Given the description of an element on the screen output the (x, y) to click on. 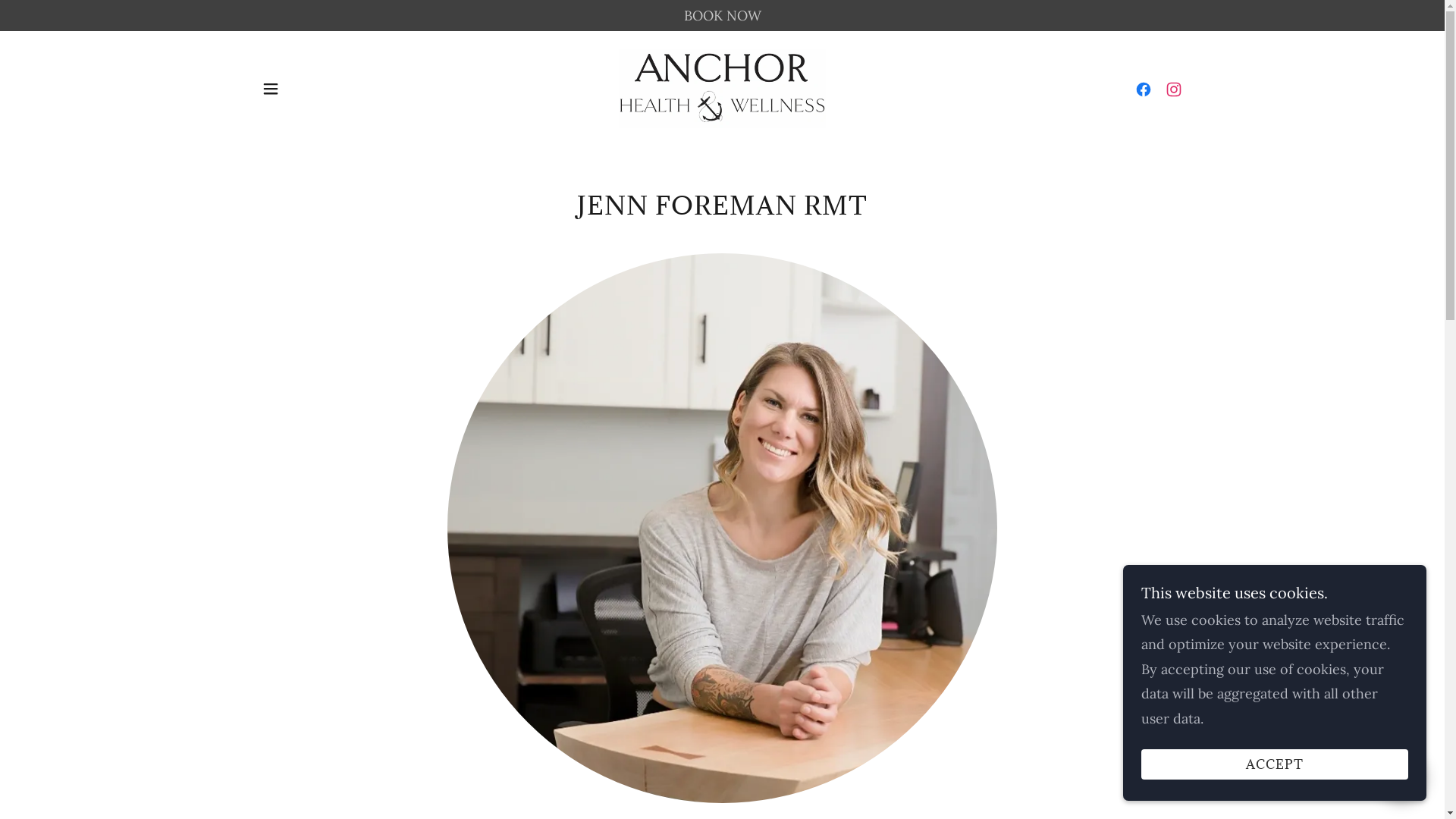
BOOK NOW Element type: text (722, 15)
ACCEPT Element type: text (1274, 764)
